Given the description of an element on the screen output the (x, y) to click on. 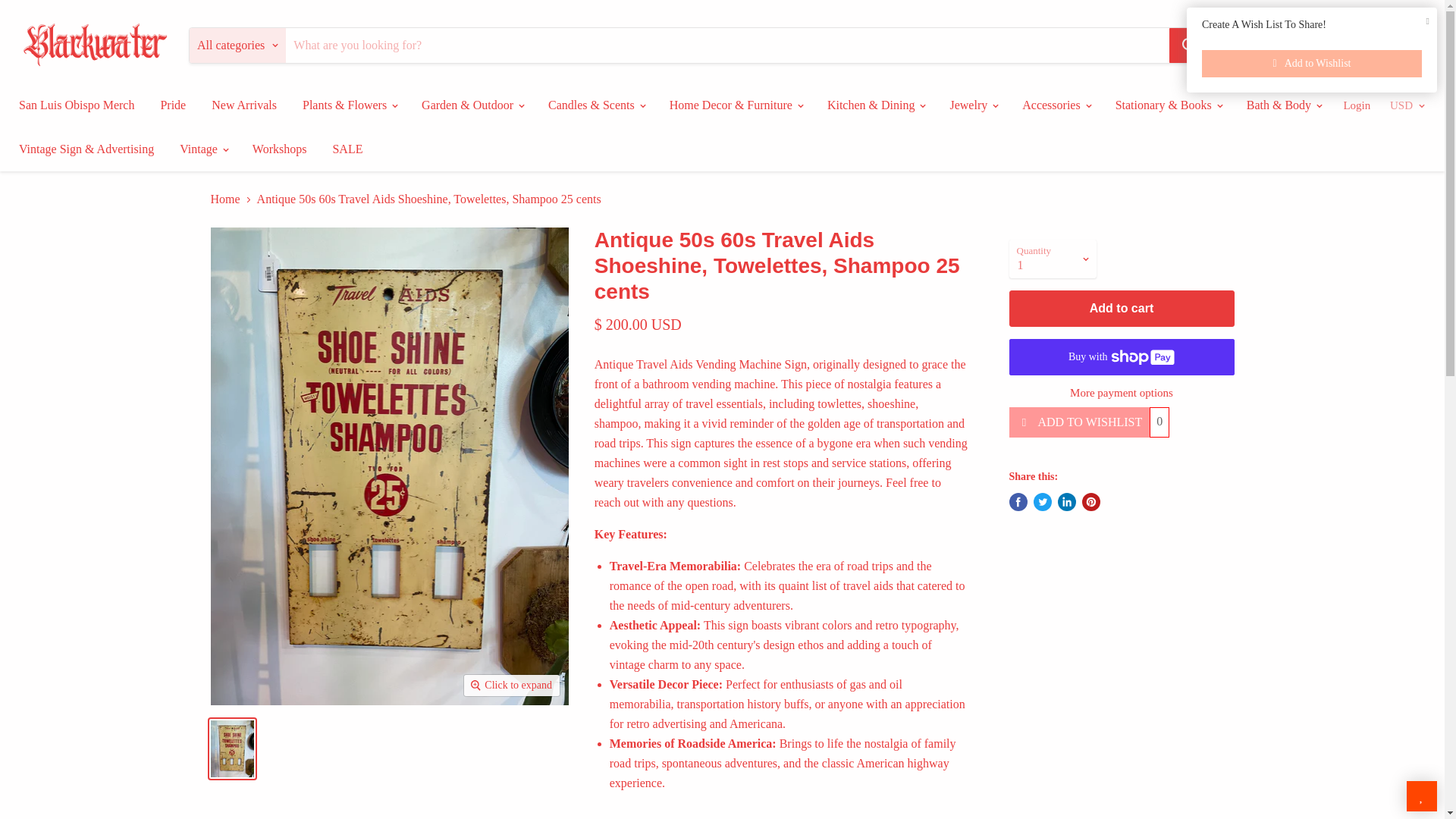
New Arrivals (244, 105)
View cart (1414, 45)
SHOP NEW ARRIVALS (1320, 44)
San Luis Obispo Merch (76, 105)
Pride (172, 105)
